Given the description of an element on the screen output the (x, y) to click on. 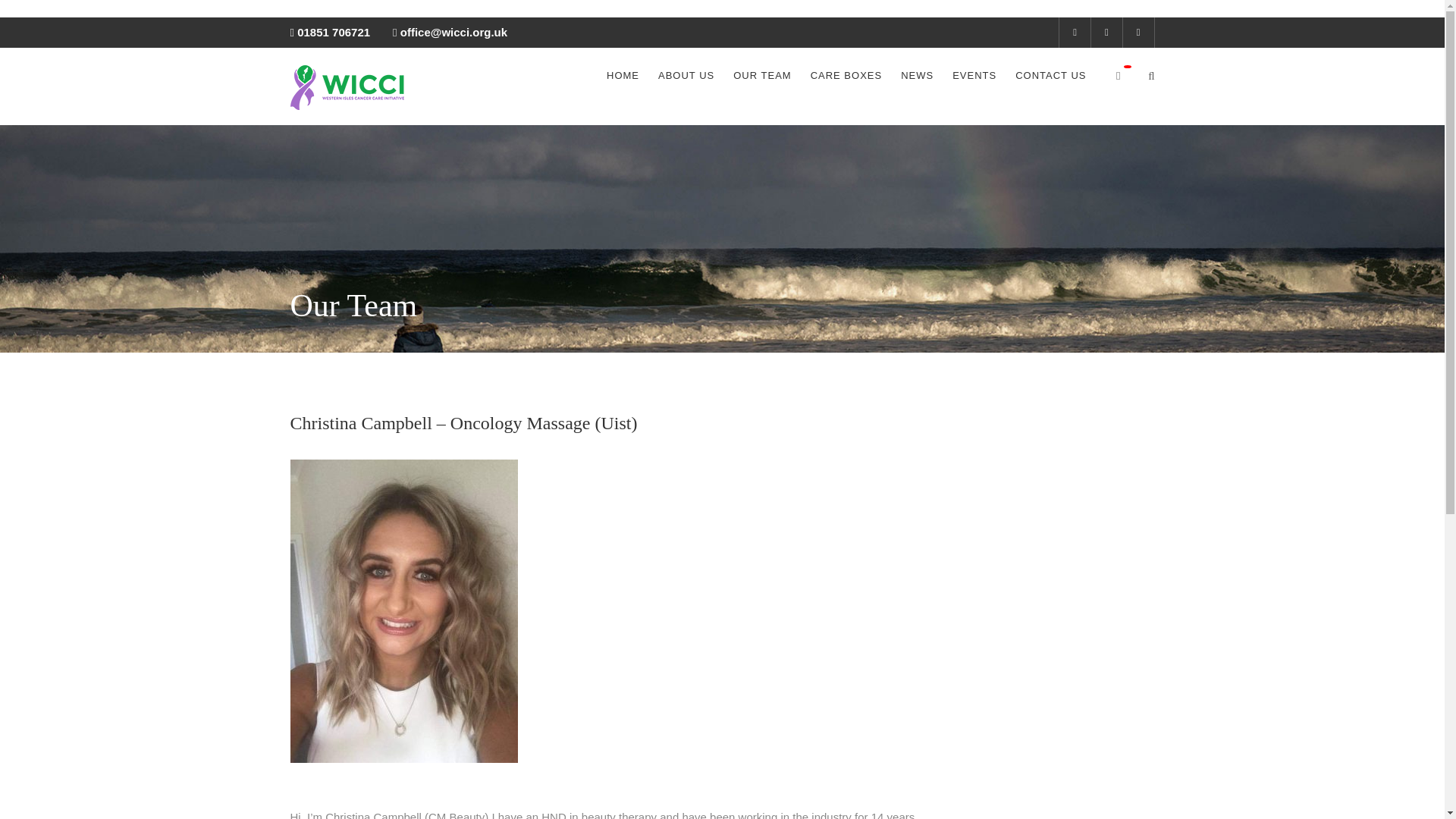
OUR TEAM (761, 75)
CARE BOXES (846, 75)
CONTACT US (1050, 75)
NEWS (917, 75)
ABOUT US (686, 75)
HOME (623, 75)
EVENTS (973, 75)
